Given the description of an element on the screen output the (x, y) to click on. 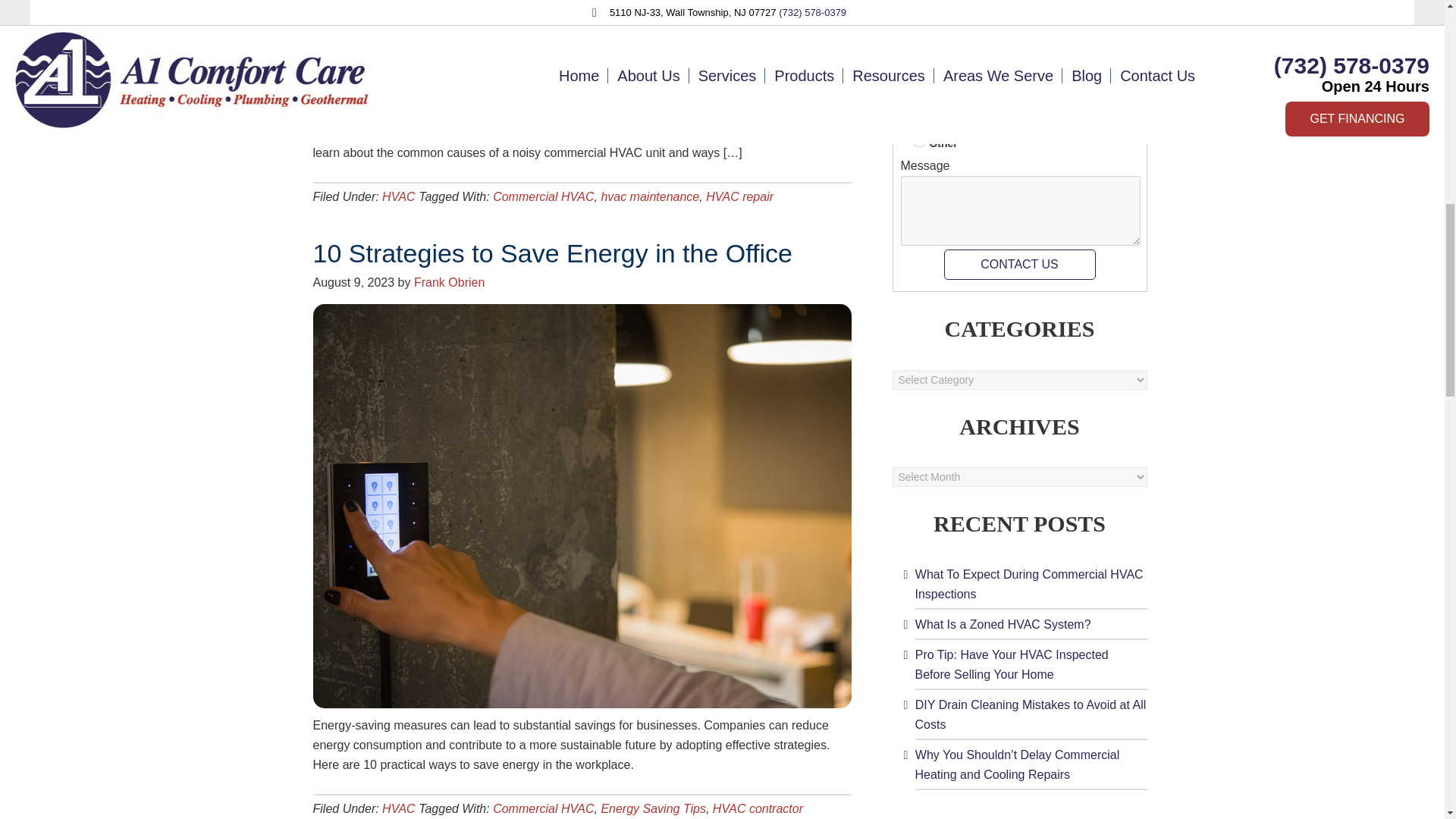
Geothermal (918, 99)
CONTACT US (1018, 264)
Heating Replacement (918, 76)
Air Conditioning Replacecment (918, 33)
Other (918, 142)
Plumbing (918, 120)
Air Conditioning Repair (918, 11)
Heating Repair (918, 54)
